Given the description of an element on the screen output the (x, y) to click on. 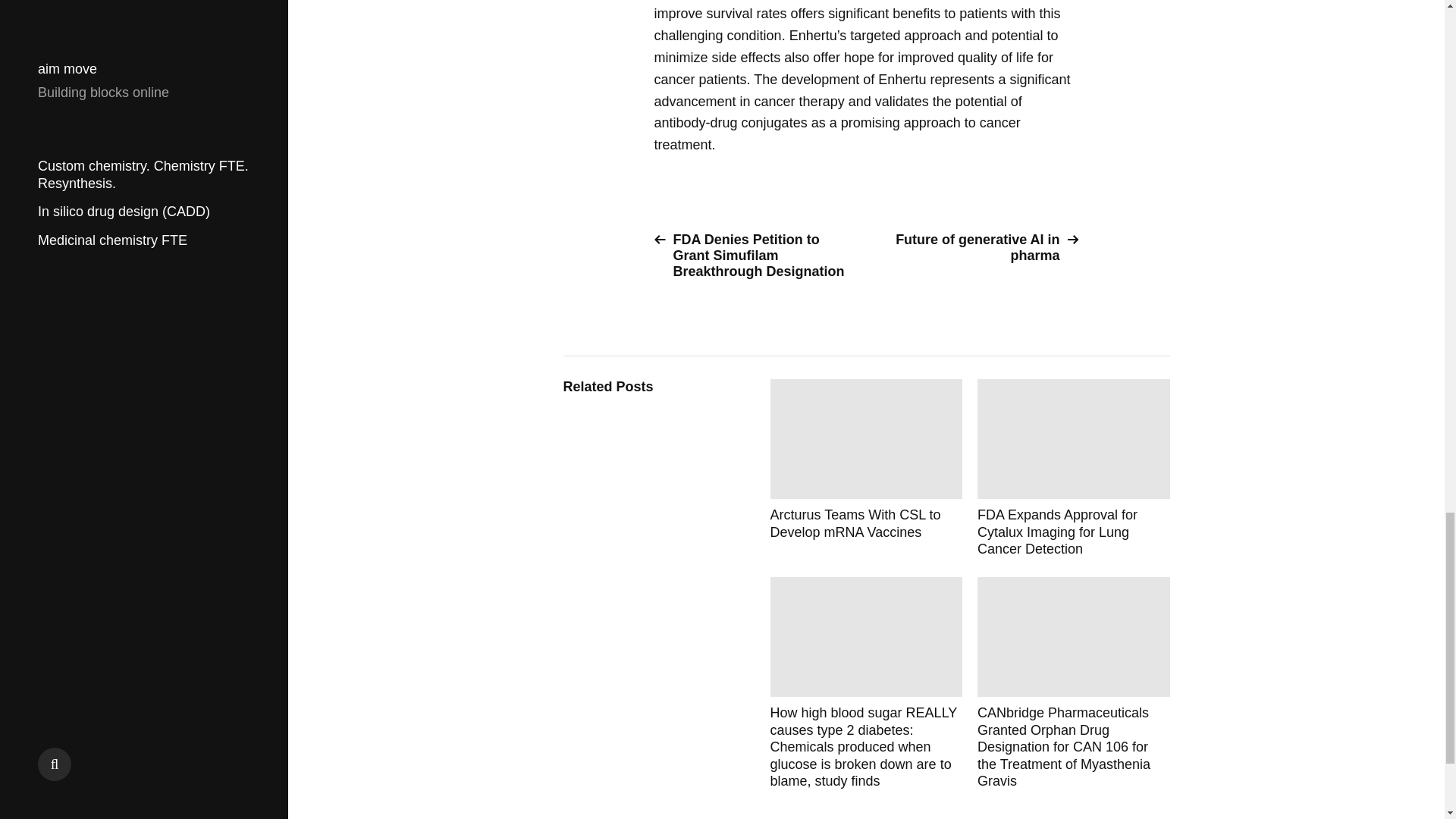
Future of generative AI in pharma (977, 247)
Arcturus Teams With CSL to Develop mRNA Vaccines (866, 468)
